Given the description of an element on the screen output the (x, y) to click on. 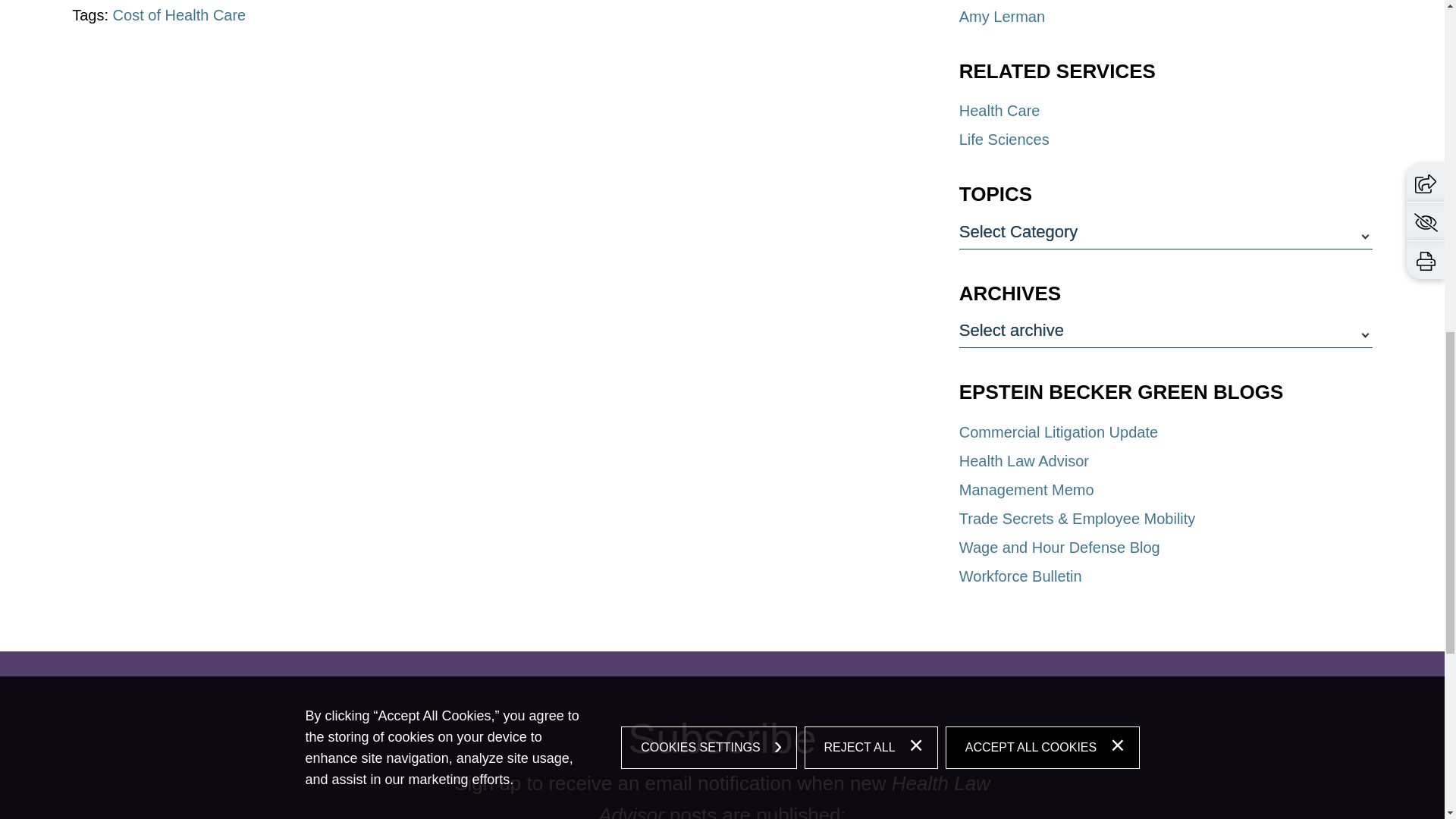
Management Memo (1026, 489)
Amy Lerman (1002, 16)
Wage and Hour Defense Blog (1059, 547)
Life Sciences (1004, 139)
Workforce Bulletin (1020, 576)
Commercial Litigation Update (1058, 432)
Health Care (1000, 110)
Cost of Health Care (179, 14)
Health Law Advisor (1024, 460)
